Given the description of an element on the screen output the (x, y) to click on. 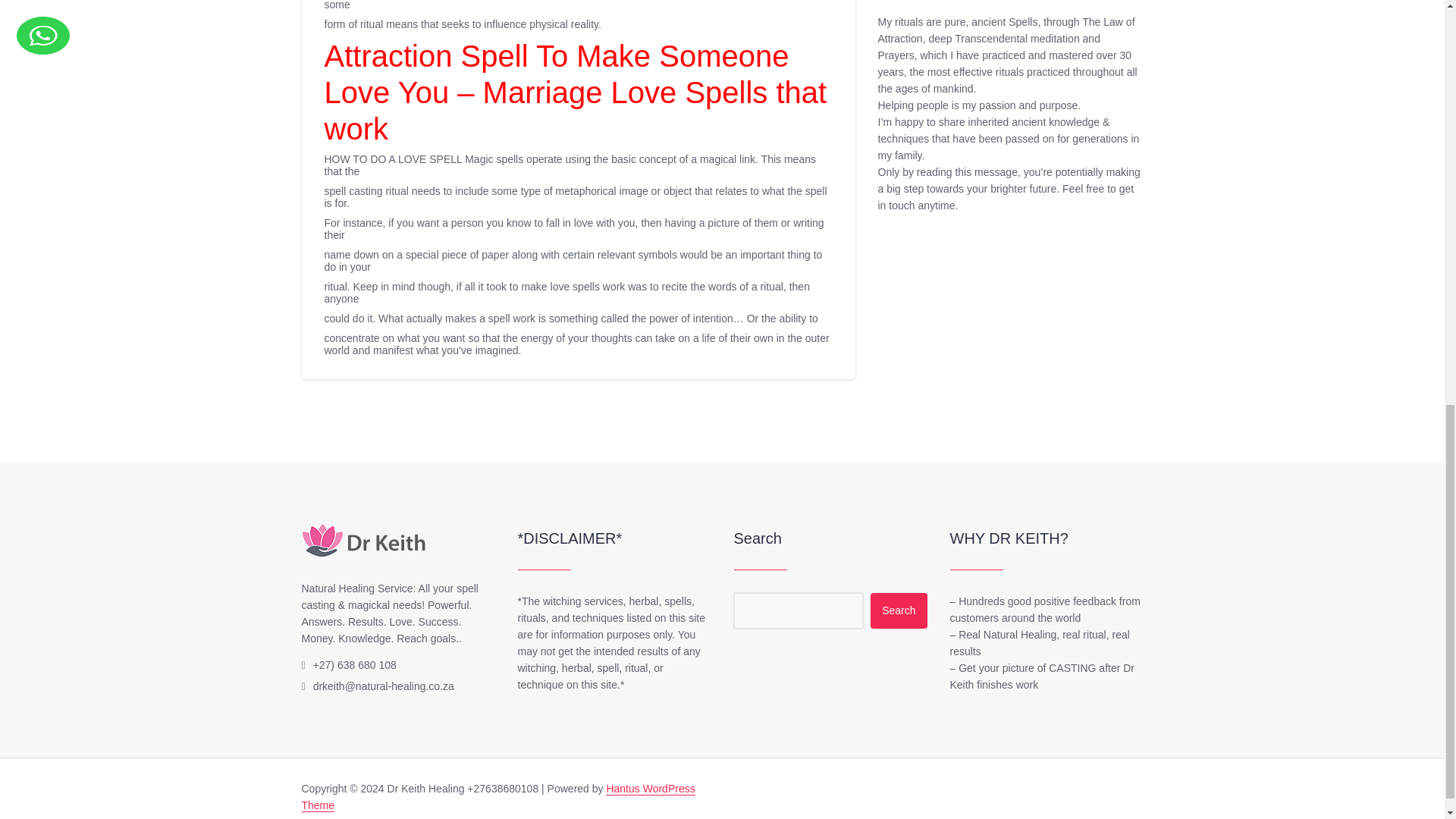
Search (898, 610)
Search (898, 610)
Hantus WordPress Theme (498, 797)
Search (898, 610)
